Given the description of an element on the screen output the (x, y) to click on. 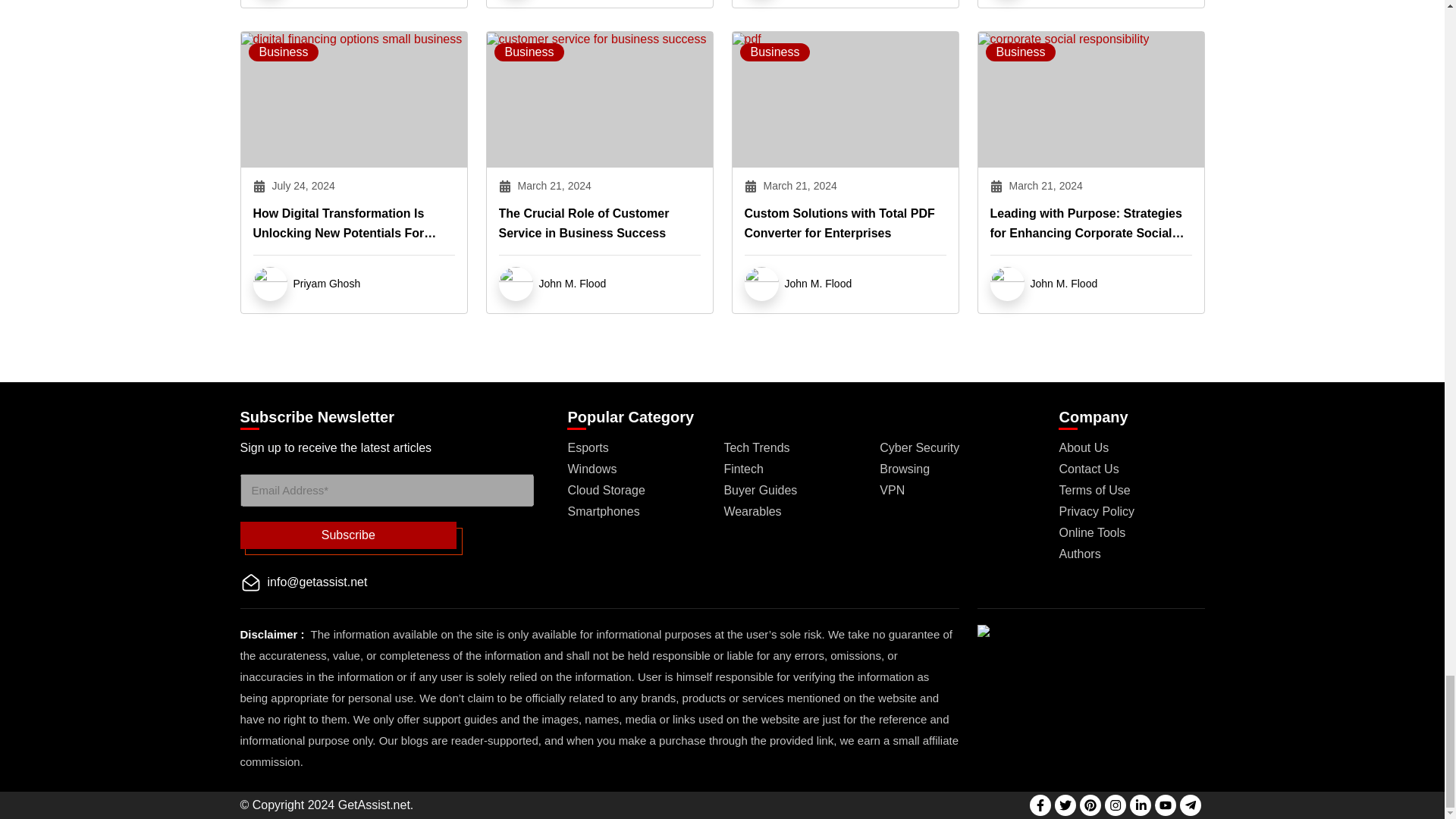
Cyber Security (919, 447)
Browsing (904, 468)
Cloud Storage (606, 490)
Esports (587, 447)
Wearables (751, 511)
Tech Trends (756, 447)
VPN (891, 490)
Buyer Guides (759, 490)
Fintech (742, 468)
Smartphones (603, 511)
